Given the description of an element on the screen output the (x, y) to click on. 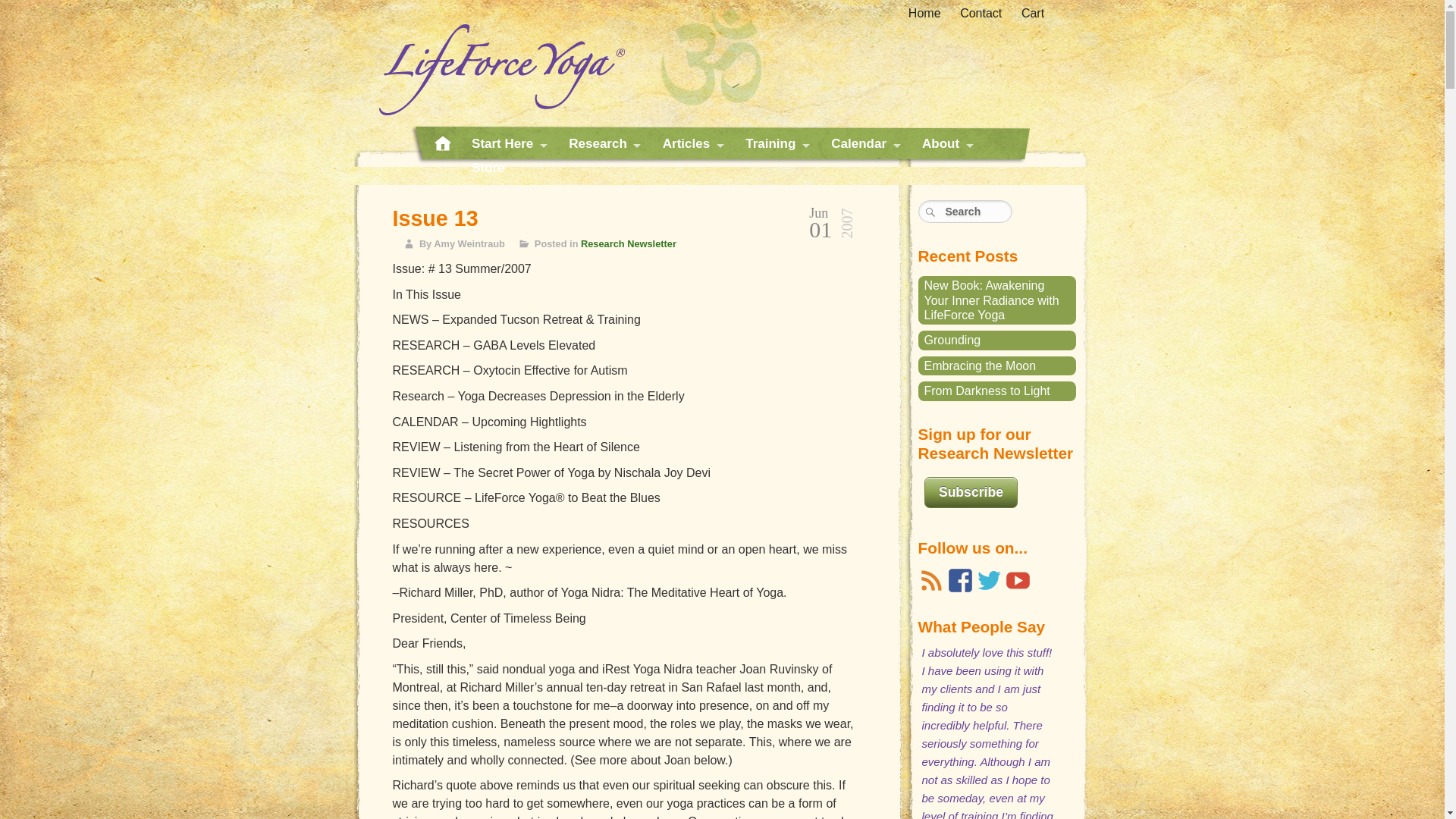
YouTube (1017, 580)
Twitter (989, 580)
Training (775, 143)
Skip to content (448, 151)
Home (441, 143)
Home (924, 13)
Start Here (506, 143)
Skip to content (448, 151)
Search (964, 210)
Yoga for Depression (493, 60)
Articles (690, 143)
Cart (1032, 13)
Yoga for Depression (493, 60)
Calendar (863, 143)
RSS Feed for entire site (930, 580)
